Given the description of an element on the screen output the (x, y) to click on. 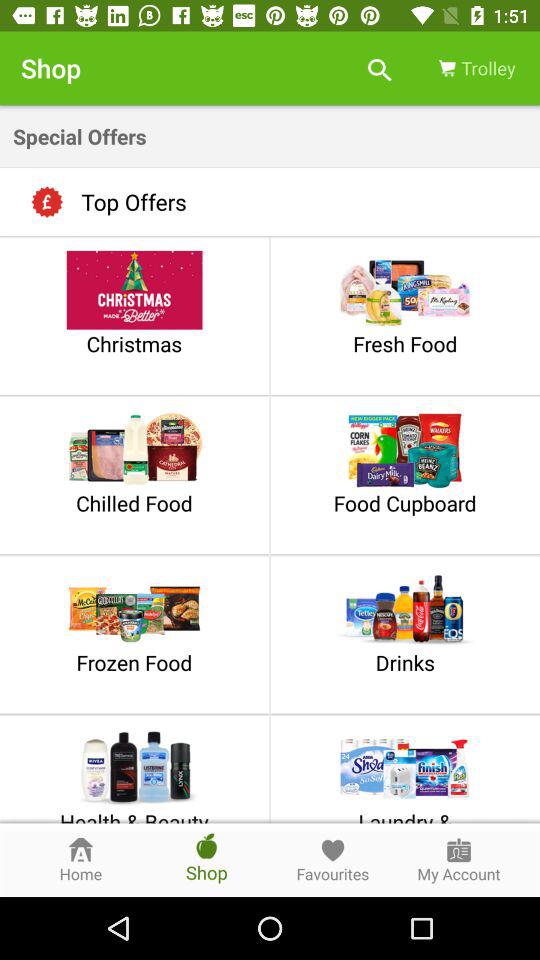
turn off trolley icon (475, 68)
